Given the description of an element on the screen output the (x, y) to click on. 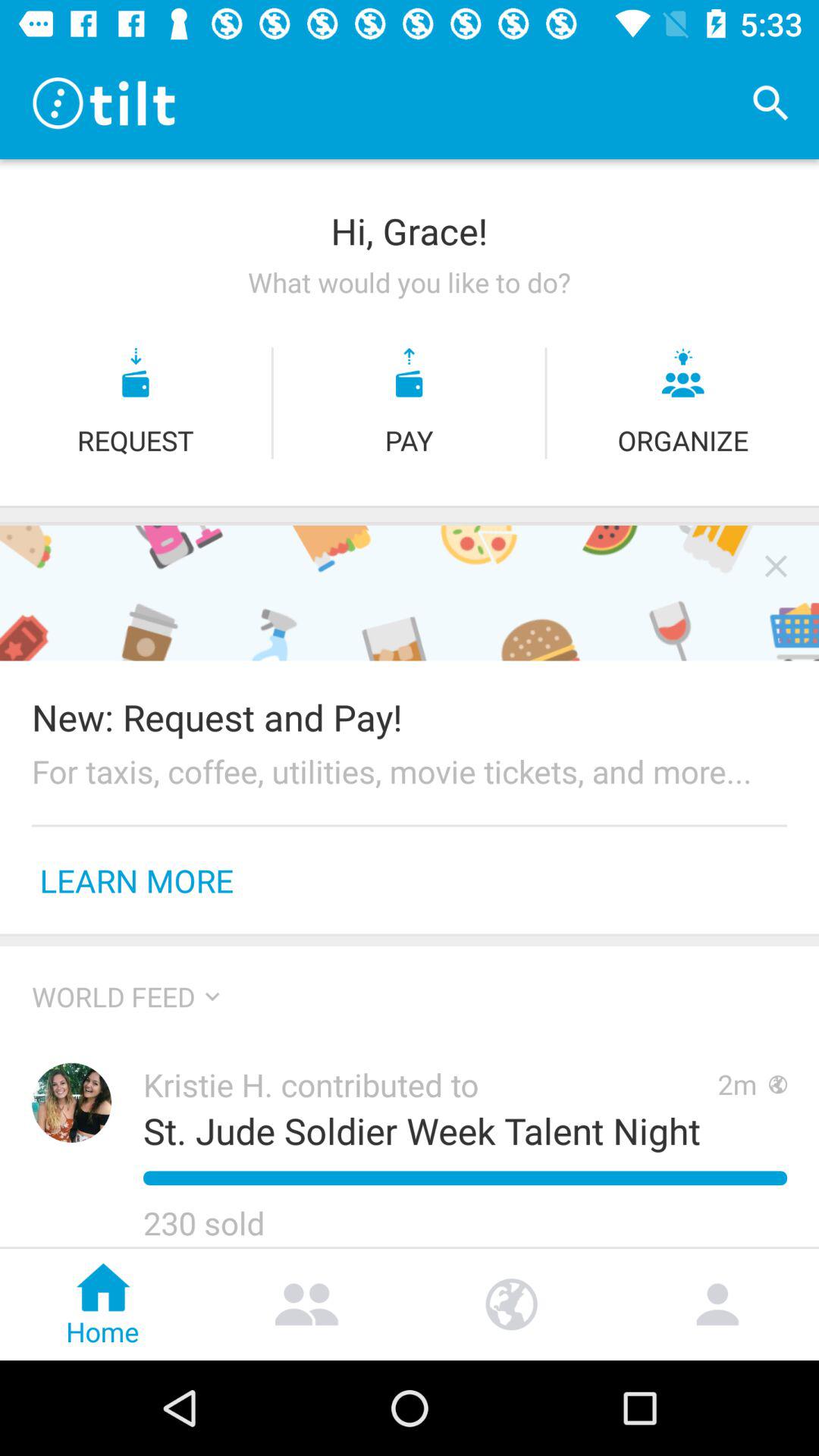
launch the icon to the left of the kristie h contributed (71, 1102)
